Given the description of an element on the screen output the (x, y) to click on. 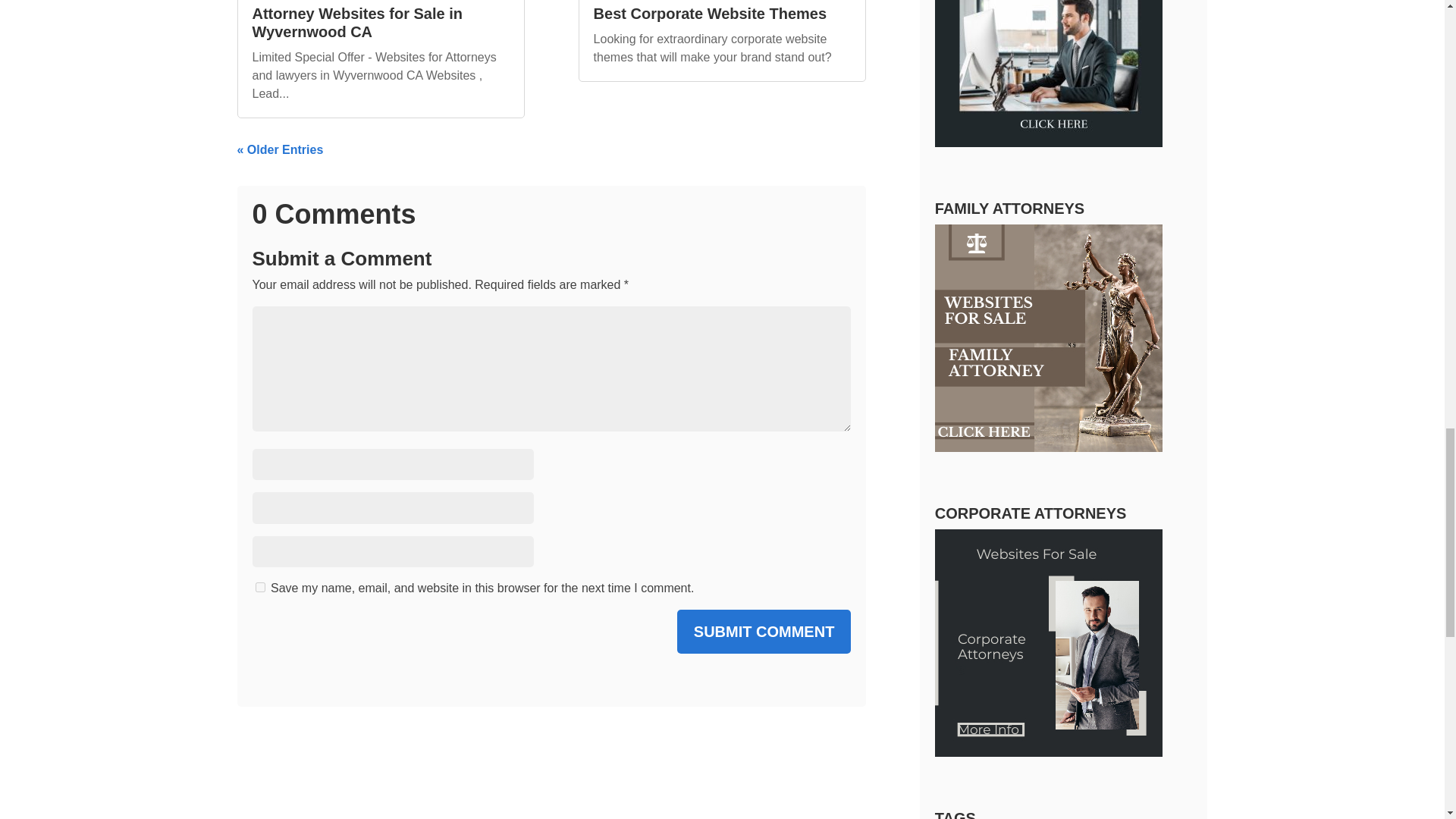
Attorney Websites for Sale in Wyvernwood CA (356, 22)
Best Corporate Website Themes (710, 13)
yes (259, 587)
SUBMIT COMMENT (764, 631)
